Given the description of an element on the screen output the (x, y) to click on. 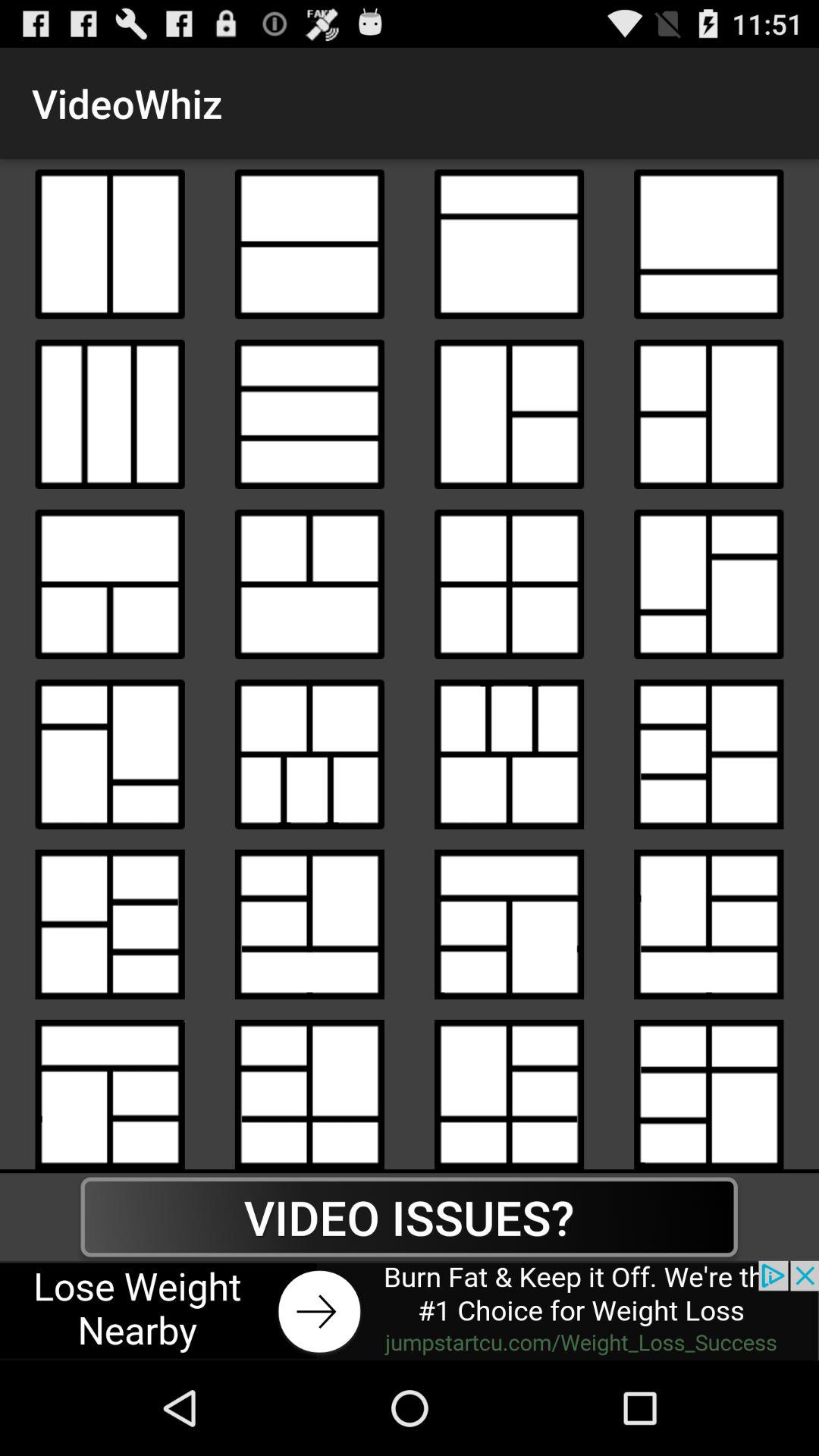
videowhiz icon (309, 584)
